Given the description of an element on the screen output the (x, y) to click on. 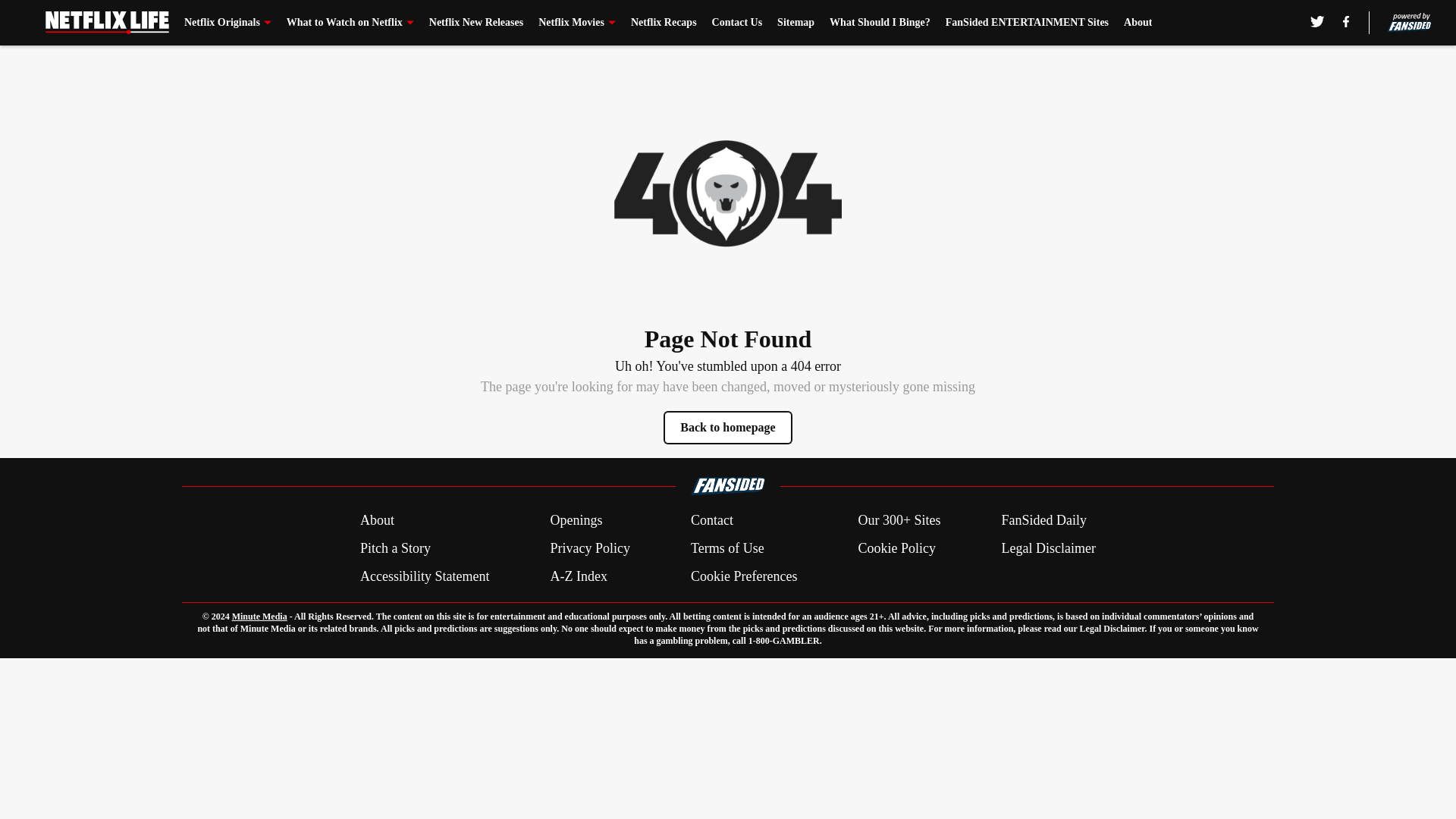
Netflix Originals (227, 22)
Netflix New Releases (475, 22)
Error image (727, 193)
What to Watch on Netflix (349, 22)
Netflix Movies (576, 22)
